Given the description of an element on the screen output the (x, y) to click on. 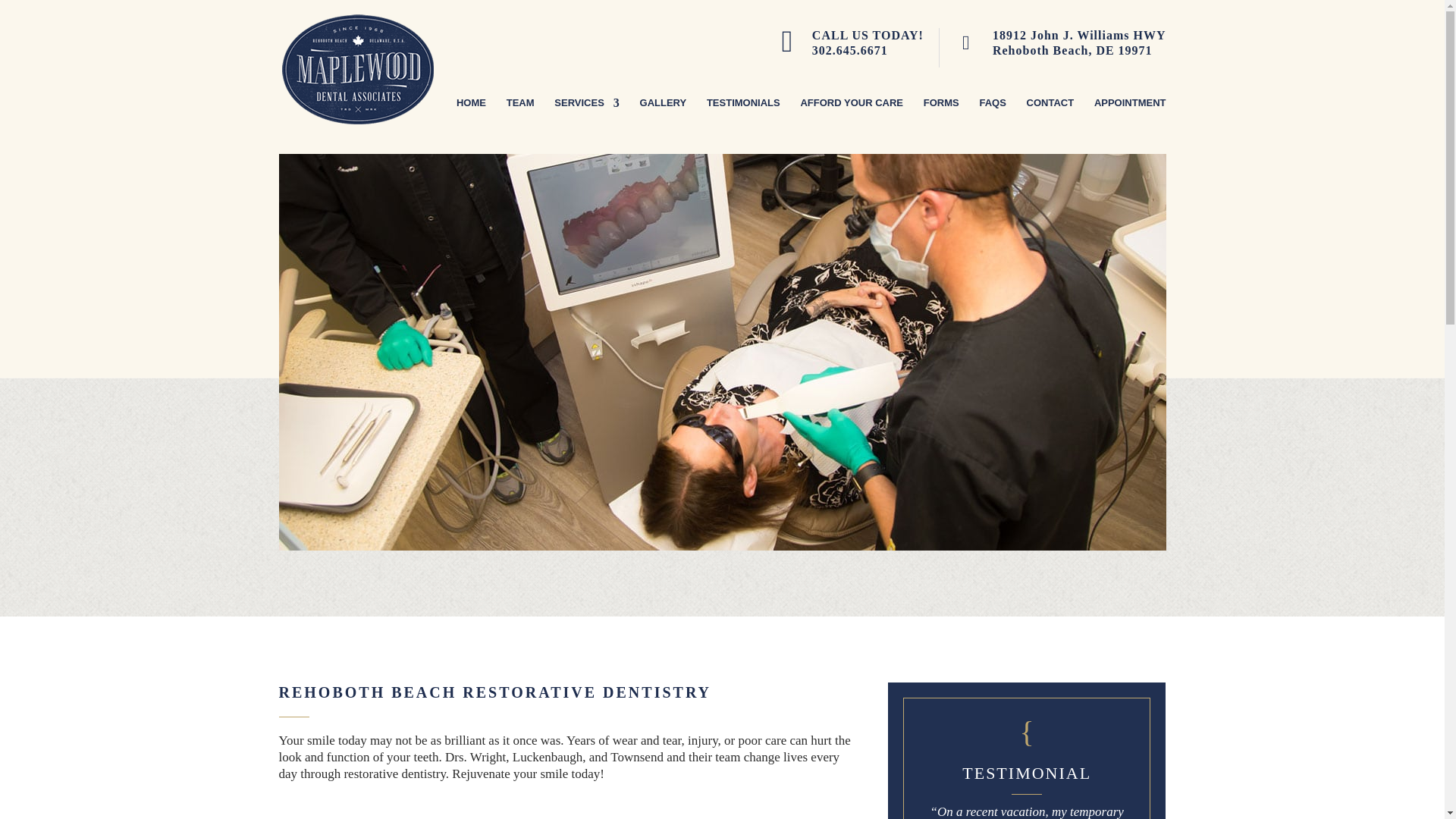
HOME (471, 117)
SERVICES (587, 117)
GALLERY (1079, 47)
TEAM (867, 47)
FAQS (663, 117)
TESTIMONIALS (520, 117)
FORMS (992, 117)
AFFORD YOUR CARE (743, 117)
